Given the description of an element on the screen output the (x, y) to click on. 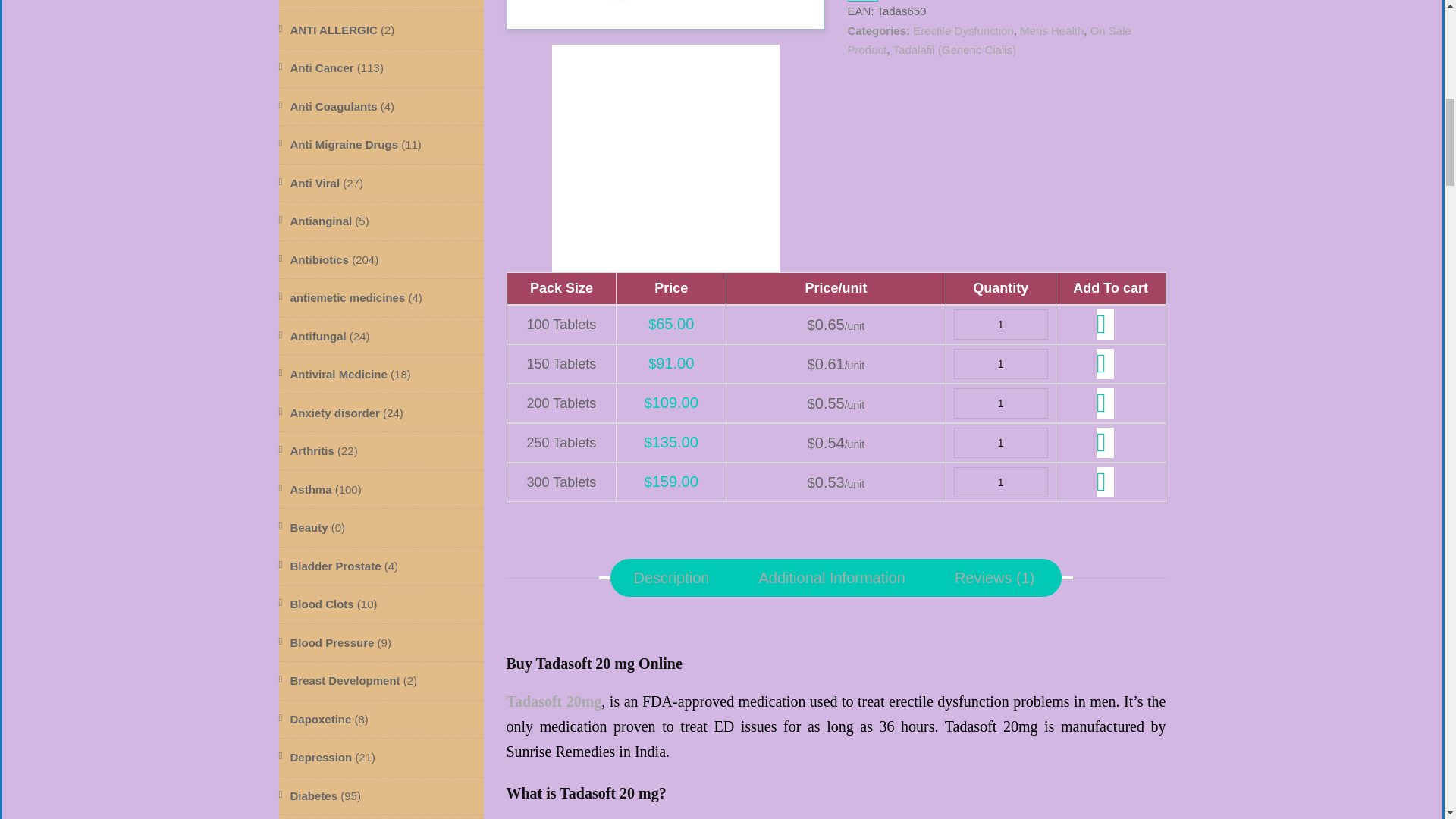
1 (1000, 481)
1 (1000, 442)
Qty (1000, 481)
Qty (1000, 442)
Qty (1000, 363)
1 (1000, 363)
1 (1000, 403)
Qty (1000, 324)
Qty (1000, 403)
tadasoft 20 (664, 158)
